Given the description of an element on the screen output the (x, y) to click on. 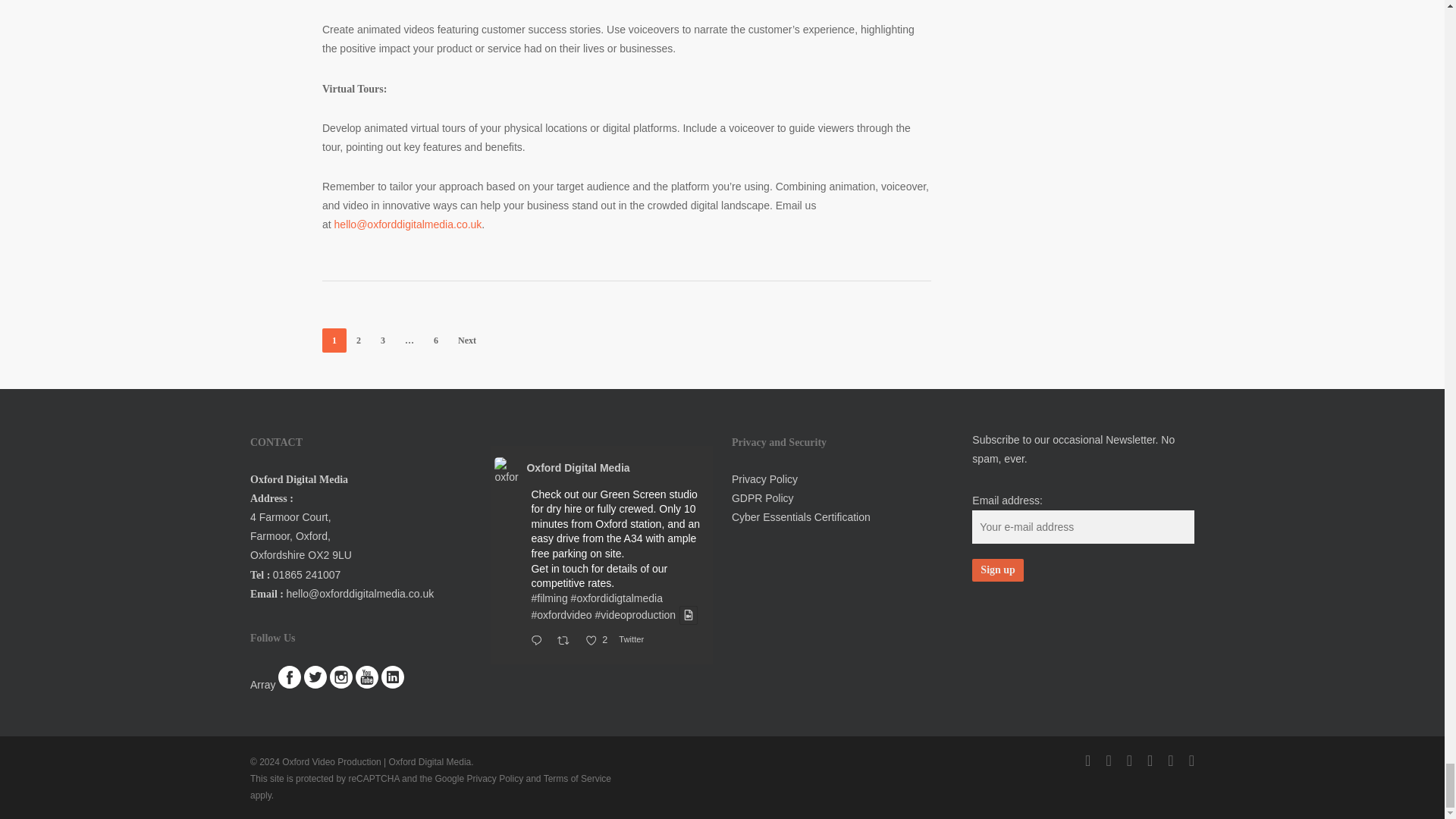
Sign up (997, 569)
